Given the description of an element on the screen output the (x, y) to click on. 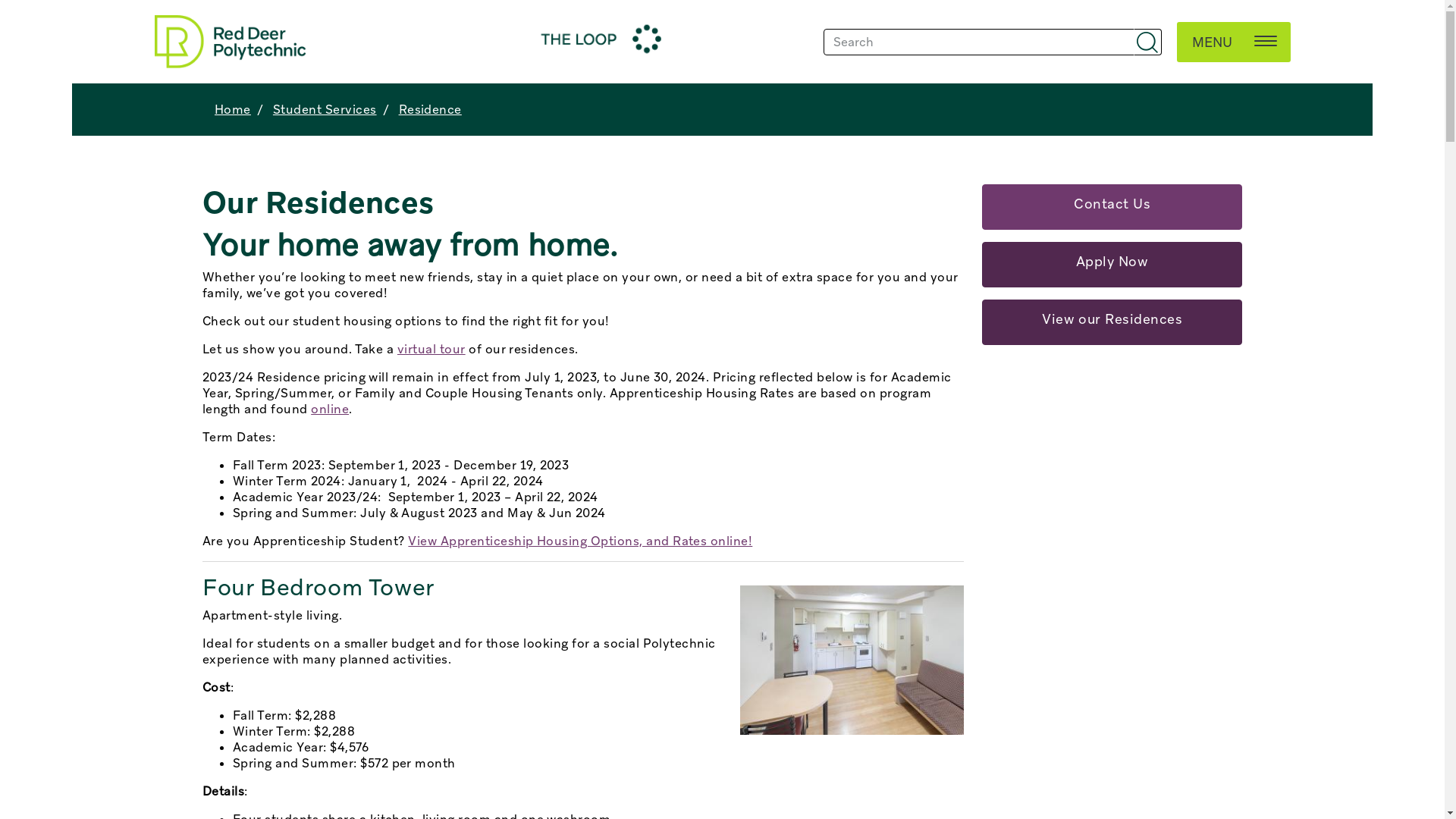
Residence Element type: text (429, 109)
View Apprenticeship Housing Options, and Rates online! Element type: text (579, 541)
Student Services Element type: text (324, 109)
Home Element type: text (232, 109)
Towers Element type: hover (840, 660)
View our Residences Element type: text (1112, 322)
online Element type: text (329, 409)
MENU Element type: text (1235, 40)
Contact Us Element type: text (1112, 206)
Apply Now Element type: text (1112, 264)
Skip to main content Element type: text (72, 0)
virtual tour Element type: text (431, 349)
  Element type: text (1147, 41)
